Given the description of an element on the screen output the (x, y) to click on. 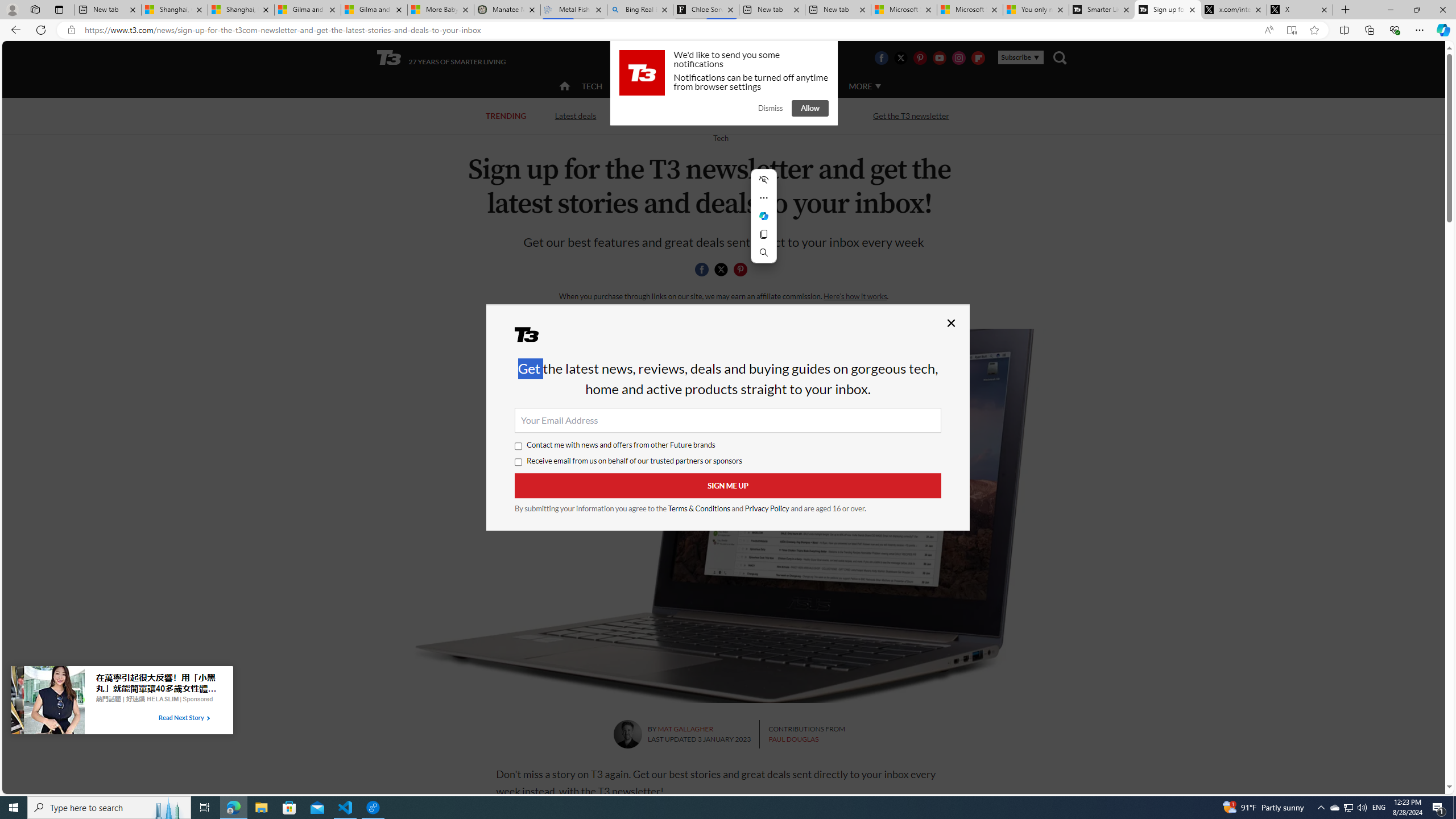
Image for Taboola Advertising Unit (47, 702)
PAUL DOUGLAS (793, 738)
Privacy Policy (766, 508)
Copilot (Ctrl+Shift+.) (1442, 29)
Manatee Mortality Statistics | FWC (507, 9)
X (1300, 9)
Dismiss (770, 107)
New Tab (1346, 9)
Streaming TV and movies (788, 115)
T3 27 YEARS OF SMARTER LIVING (441, 57)
Get the T3 newsletter (911, 115)
Your Email Address (727, 420)
Back (13, 29)
Class: navigation__search (1059, 57)
Gilma and Hector both pose tropical trouble for Hawaii (374, 9)
